Given the description of an element on the screen output the (x, y) to click on. 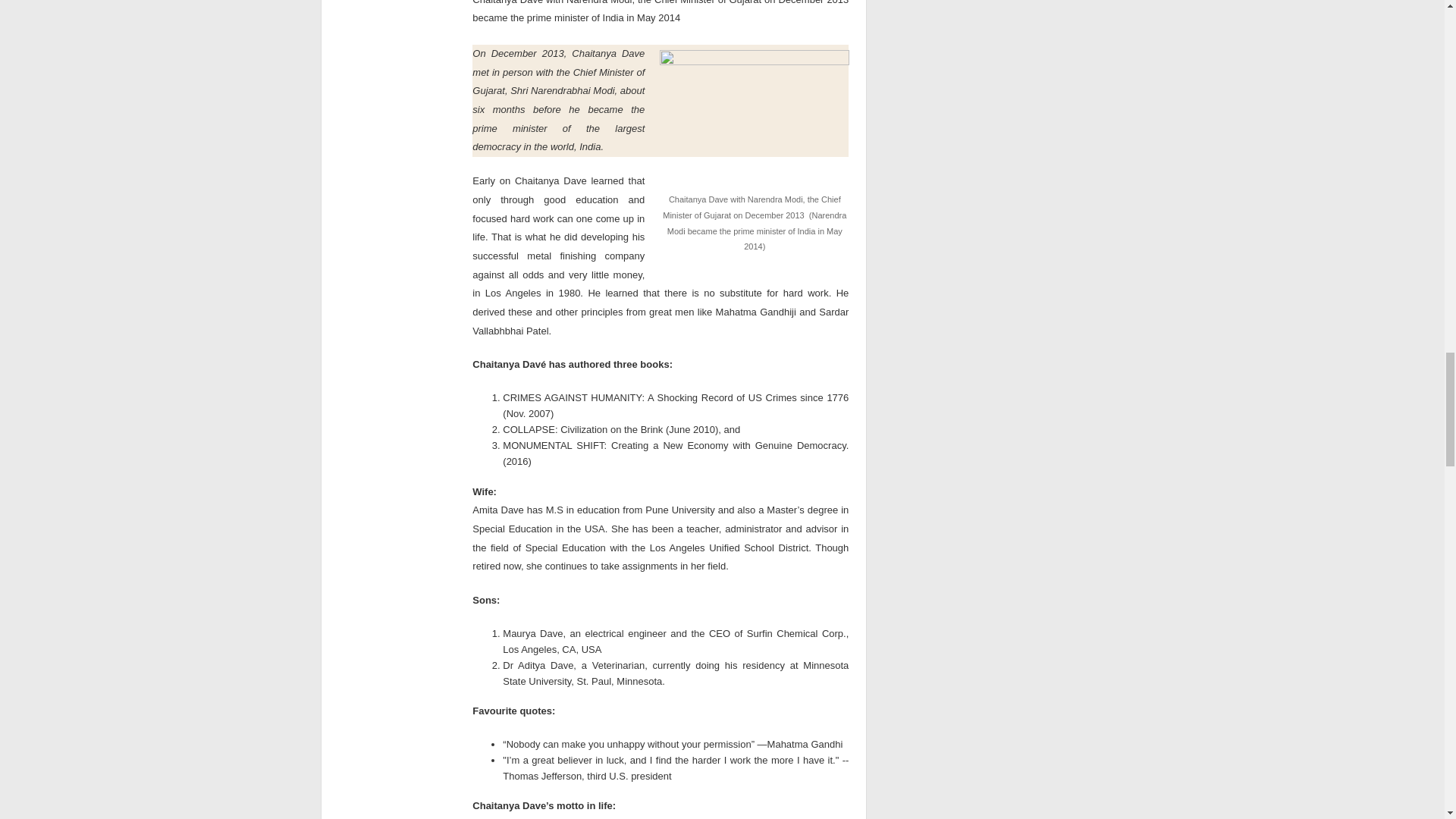
Chaitanya-dave-Narendra-Modi (753, 120)
